Given the description of an element on the screen output the (x, y) to click on. 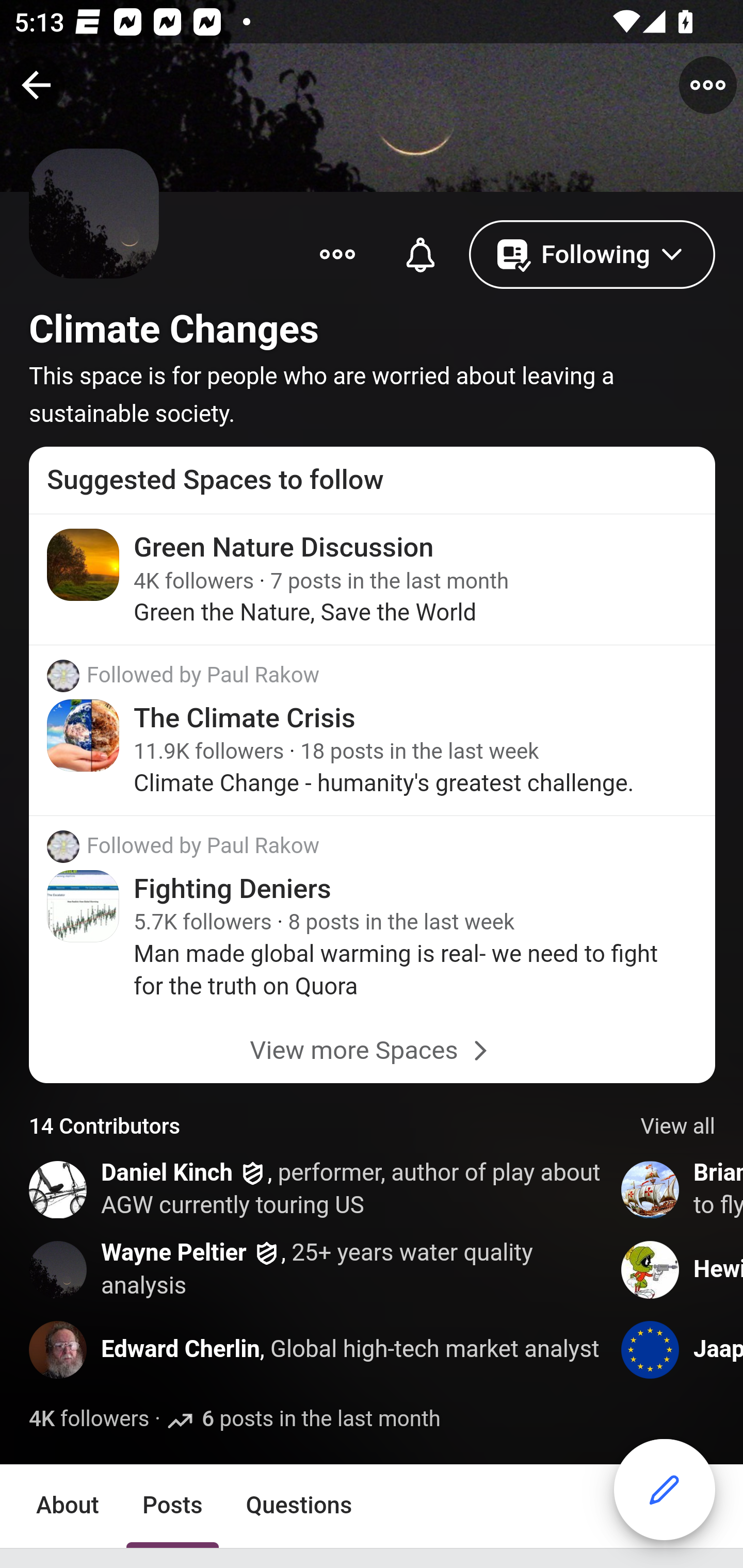
More (337, 252)
Personalized (420, 252)
Following (591, 252)
Climate Changes (173, 329)
View more Spaces (372, 1051)
View all (677, 1127)
Daniel Kinch (167, 1173)
Profile photo for Daniel Kinch (58, 1188)
Profile photo for Brian Hval (650, 1188)
Wayne Peltier (174, 1253)
Profile photo for Wayne Peltier (58, 1269)
Profile photo for Hewitt Rose (650, 1269)
Profile photo for Edward Cherlin (58, 1349)
Profile photo for Jaap Folmer (650, 1349)
Edward Cherlin (180, 1350)
4K followers (88, 1419)
About (68, 1506)
Posts (171, 1506)
Questions (299, 1506)
